Given the description of an element on the screen output the (x, y) to click on. 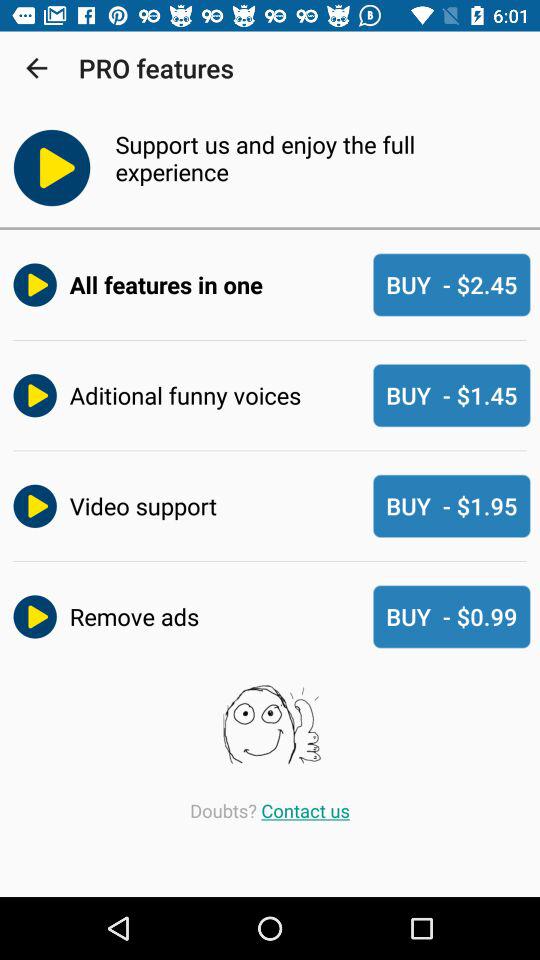
click the button on the right next to the button remove ads on the web page (451, 616)
